Given the description of an element on the screen output the (x, y) to click on. 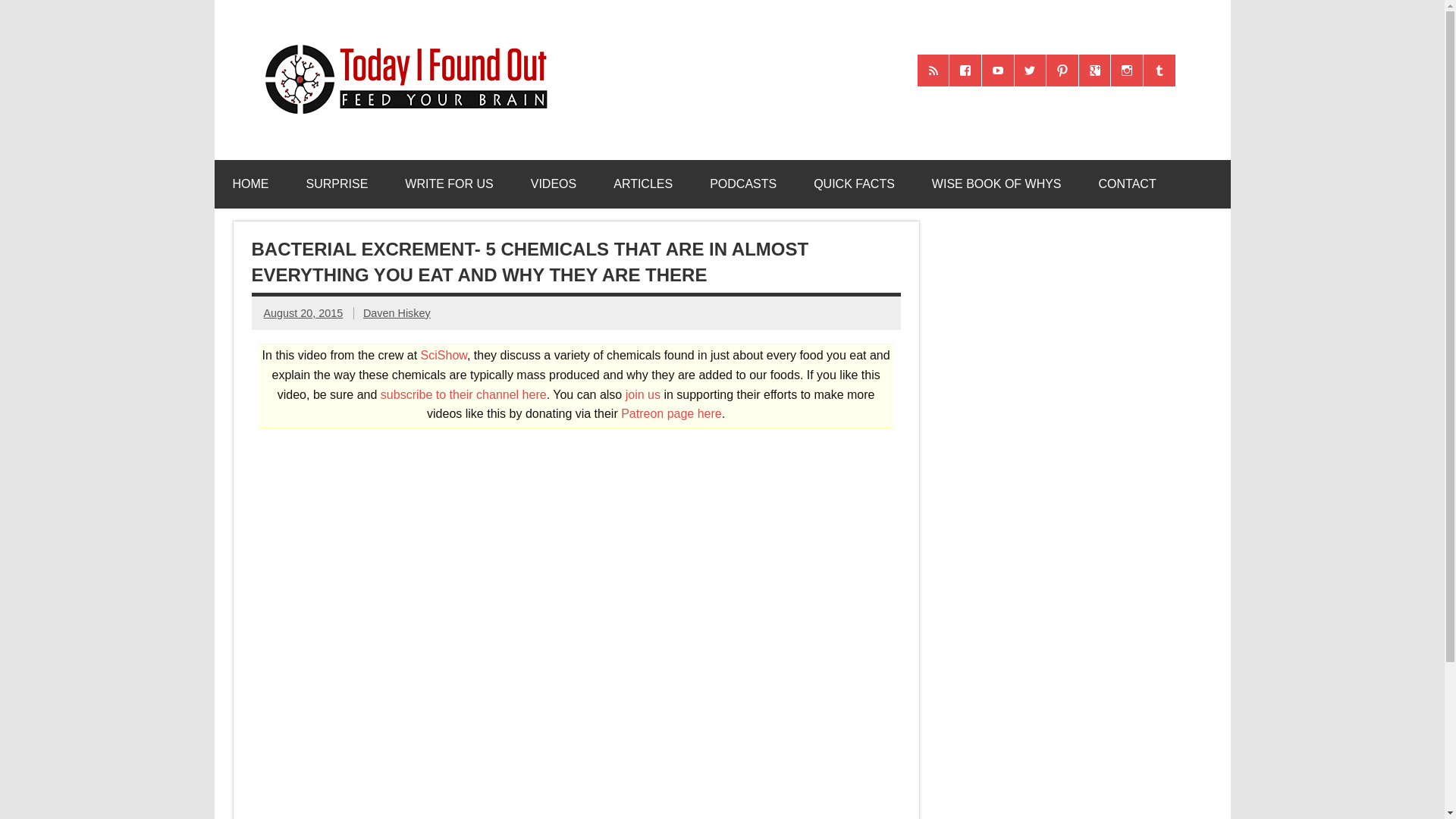
PODCASTS (742, 183)
VIDEOS (553, 183)
Interesting Facts (853, 183)
HOME (250, 183)
CONTACT (1127, 183)
ARTICLES (642, 183)
WRITE FOR US (449, 183)
View all posts by Daven Hiskey (396, 313)
Today I Found Out (399, 42)
QUICK FACTS (853, 183)
